Given the description of an element on the screen output the (x, y) to click on. 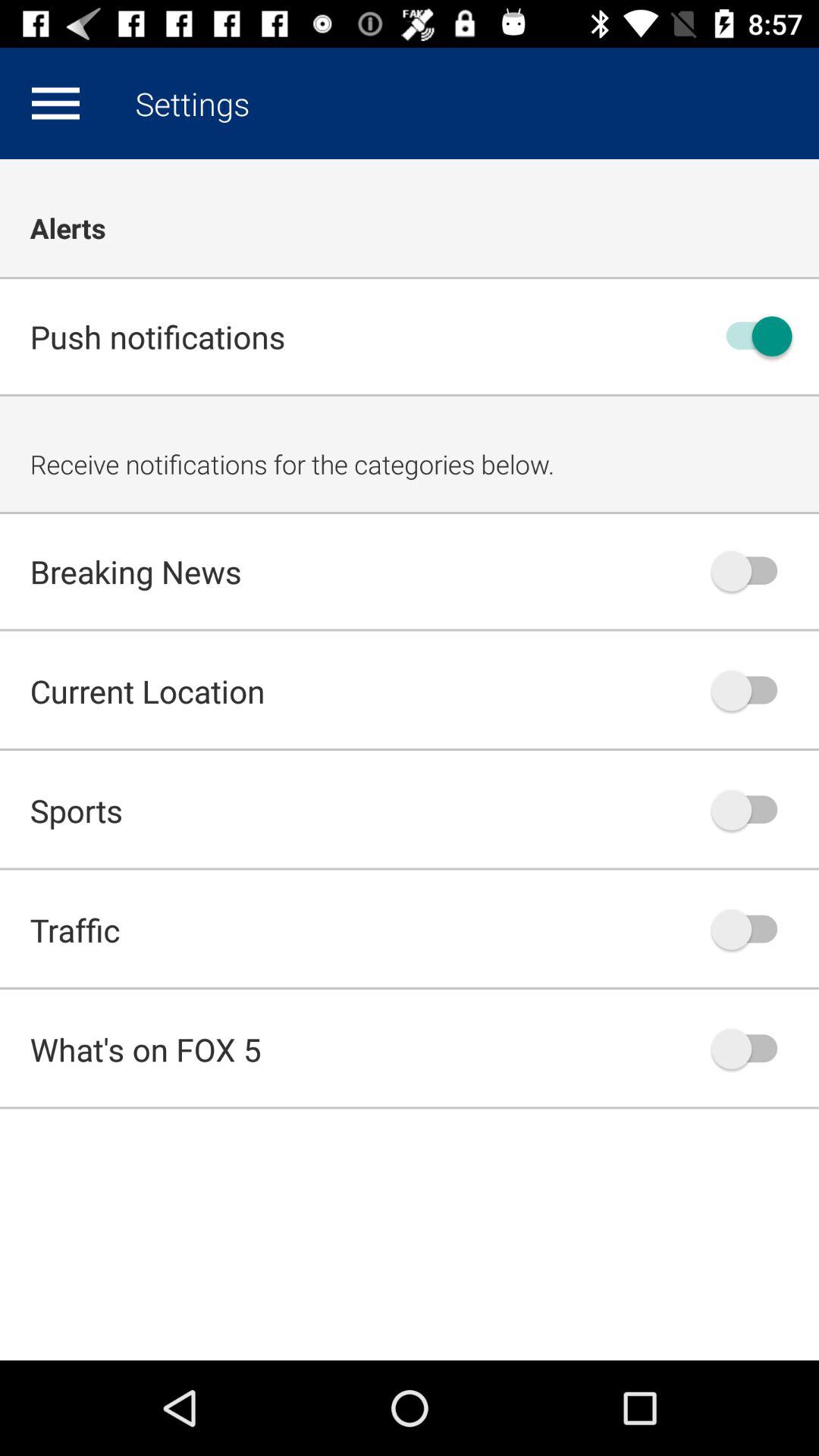
click icon next to settings app (55, 103)
